Given the description of an element on the screen output the (x, y) to click on. 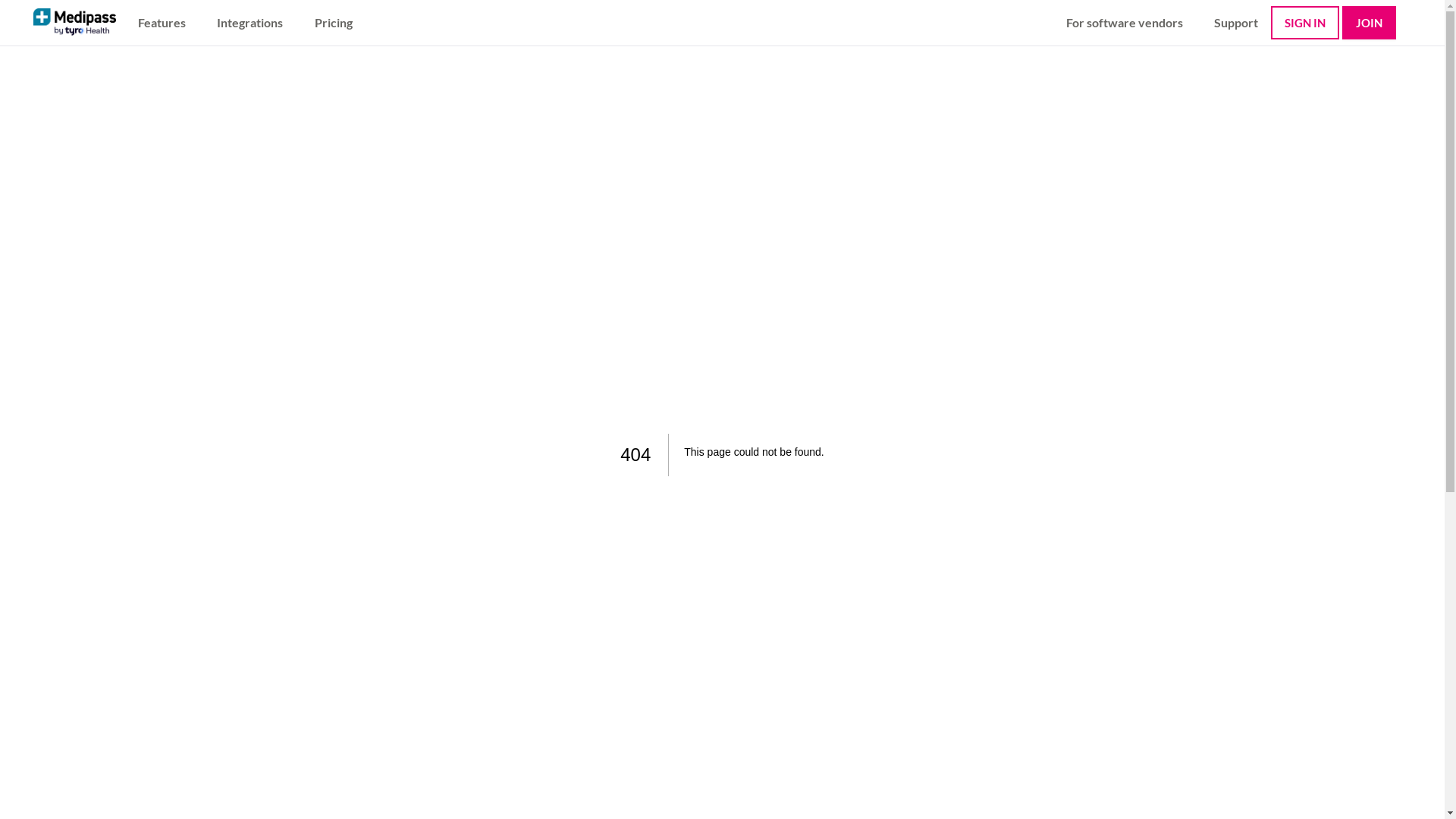
Features Element type: text (161, 22)
JOIN Element type: text (1369, 22)
Integrations Element type: text (250, 22)
Support Element type: text (1235, 22)
SIGN IN Element type: text (1304, 22)
For software vendors Element type: text (1124, 22)
Pricing Element type: text (333, 22)
